Given the description of an element on the screen output the (x, y) to click on. 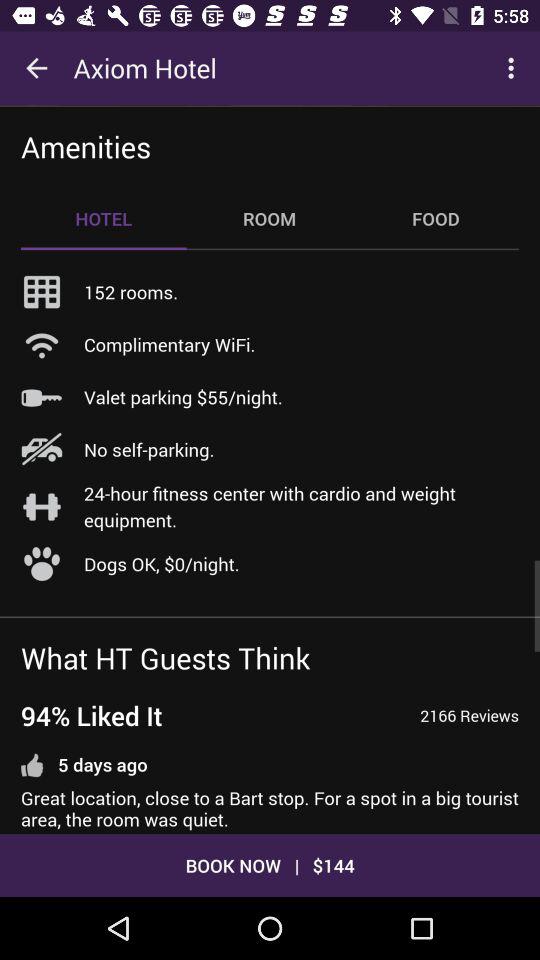
turn on the item below valet parking 55 (149, 449)
